Given the description of an element on the screen output the (x, y) to click on. 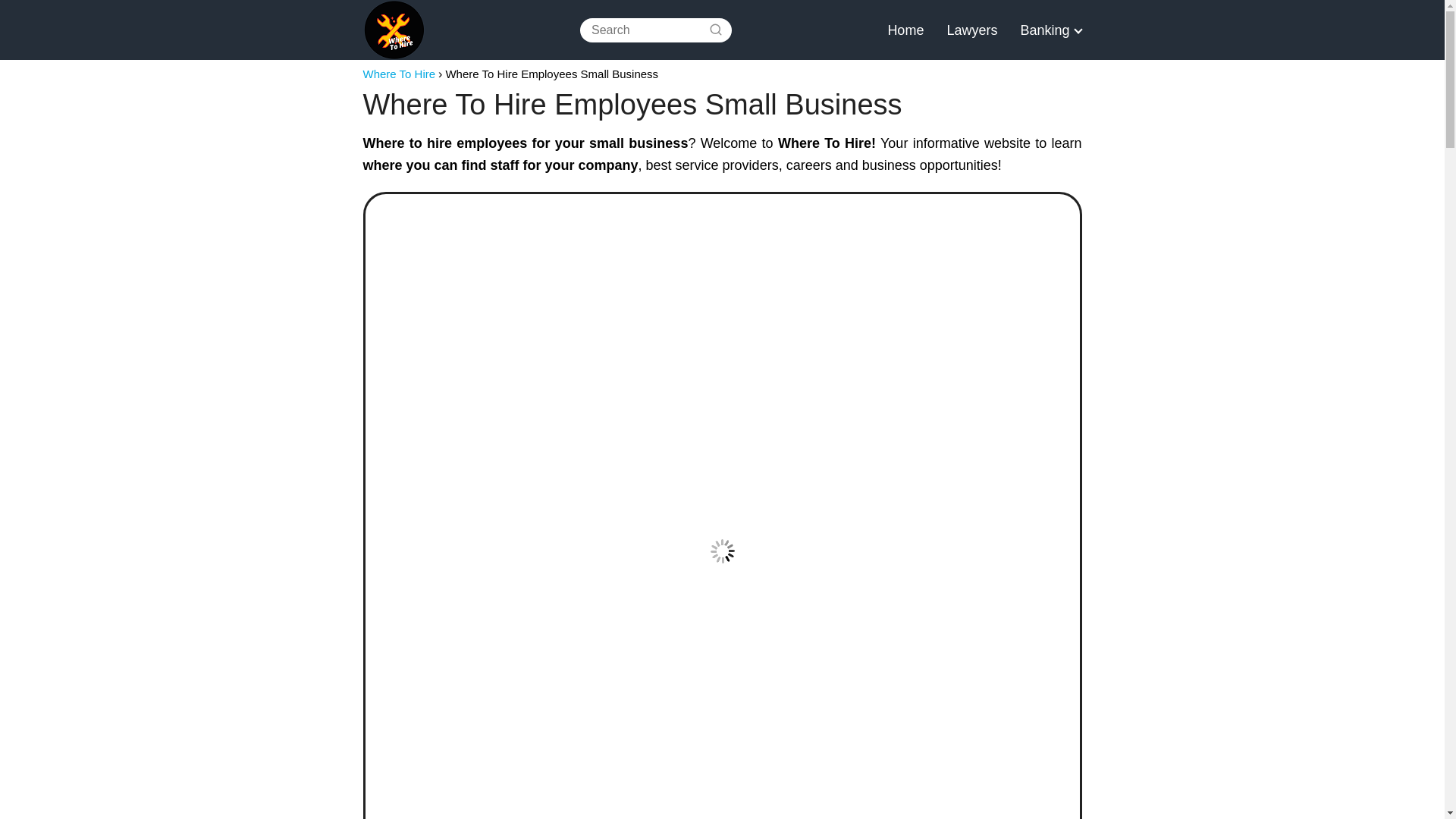
Home (904, 29)
Where To Hire (398, 73)
Lawyers (971, 29)
Banking (1047, 29)
